Given the description of an element on the screen output the (x, y) to click on. 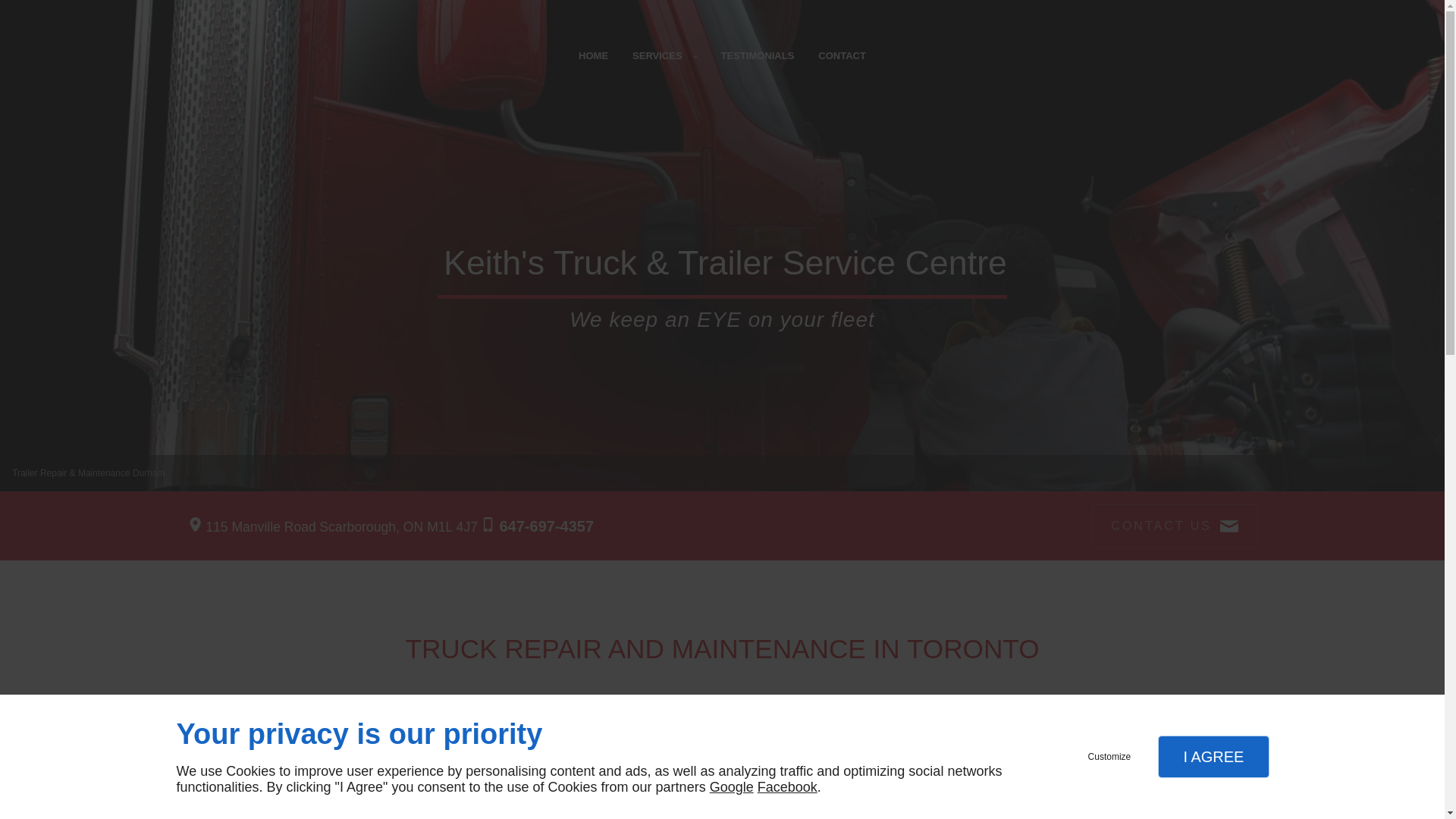
SERVICES (664, 56)
TESTIMONIALS (757, 56)
CONTACT US (1174, 525)
647-697-4357 (546, 526)
